Given the description of an element on the screen output the (x, y) to click on. 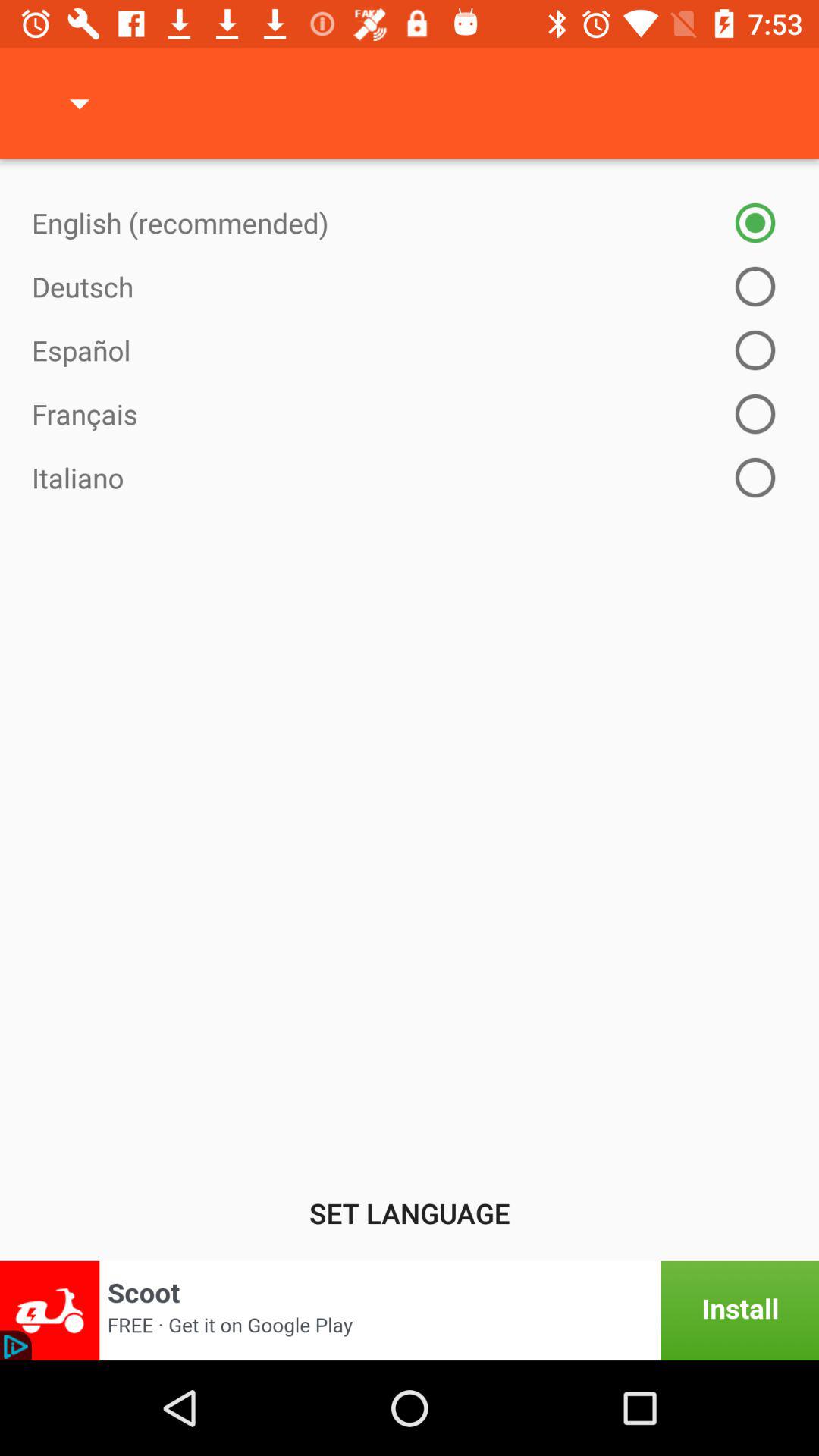
flip to set language item (409, 1212)
